Given the description of an element on the screen output the (x, y) to click on. 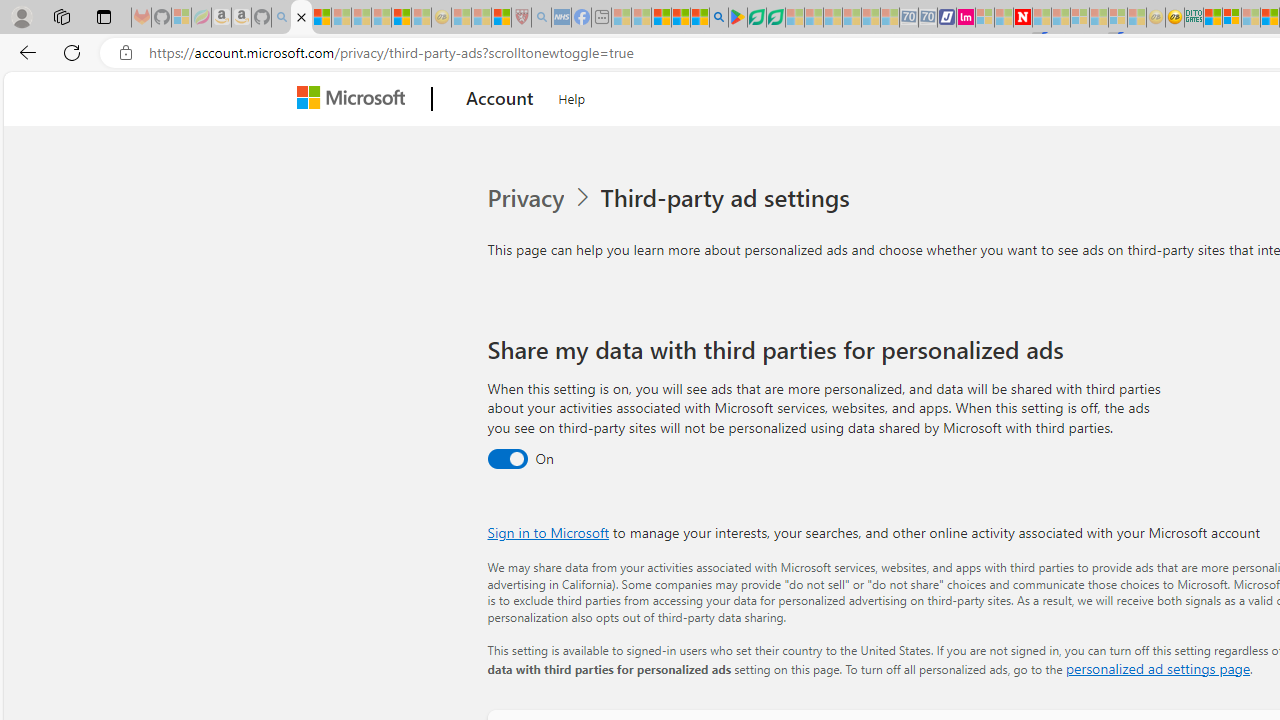
Sign in to Microsoft (548, 532)
Latest Politics News & Archive | Newsweek.com (1022, 17)
Microsoft Word - consumer-privacy address update 2.2021 (775, 17)
